Given the description of an element on the screen output the (x, y) to click on. 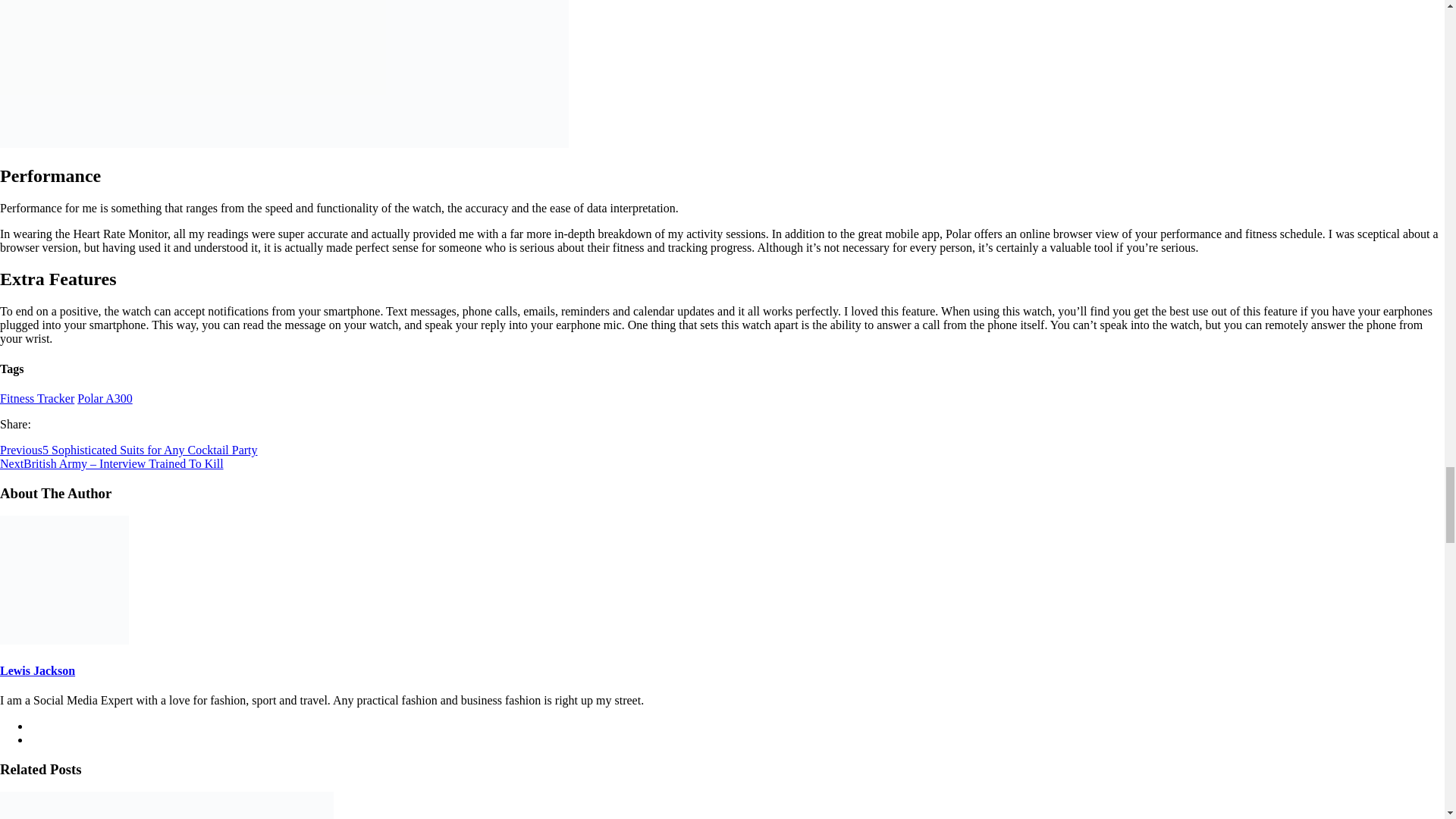
View all posts by Lewis Jackson (37, 670)
Fitness Tracker (37, 398)
Polar A300 (104, 398)
